Given the description of an element on the screen output the (x, y) to click on. 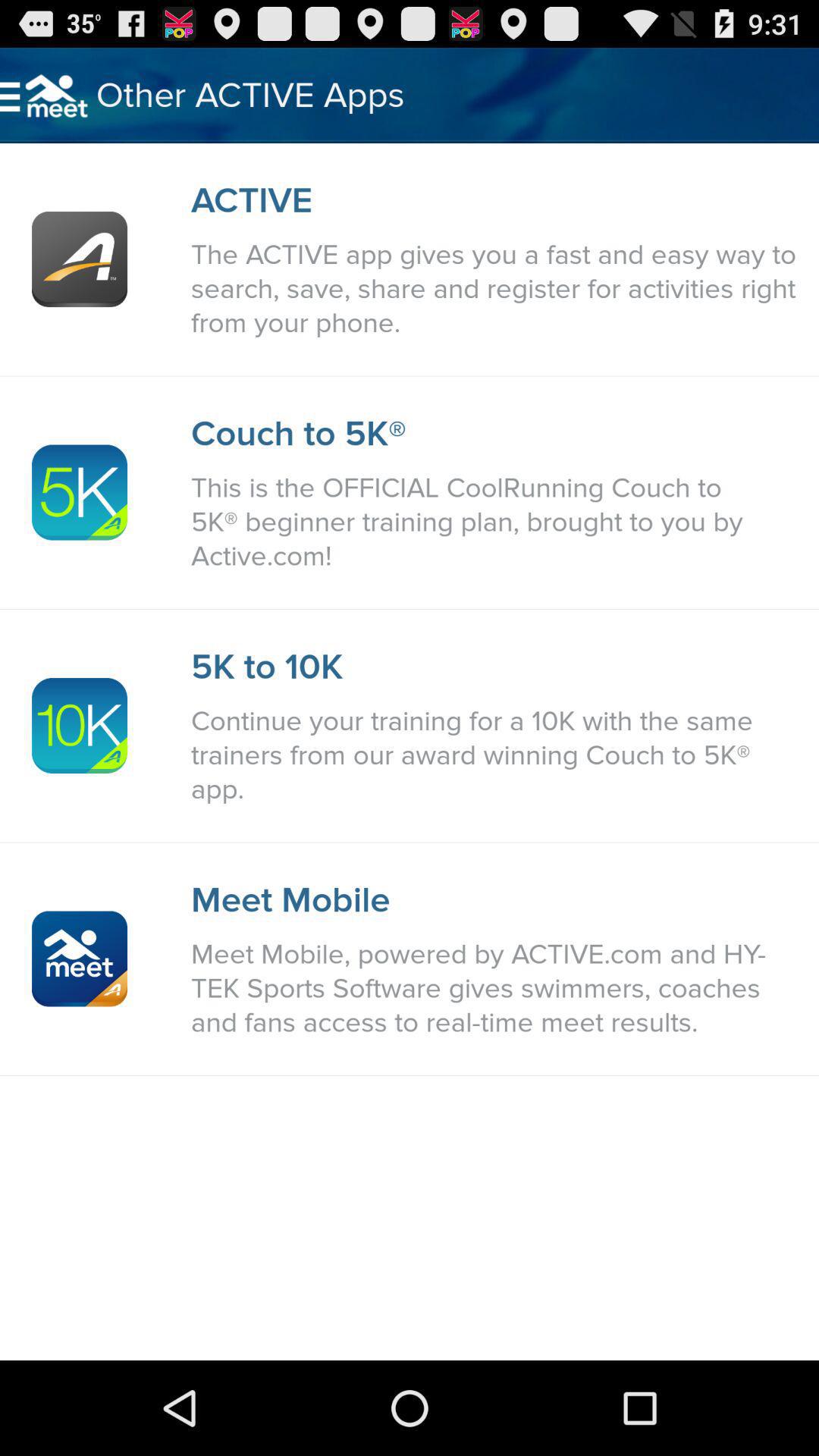
tap the item above meet mobile item (497, 755)
